Given the description of an element on the screen output the (x, y) to click on. 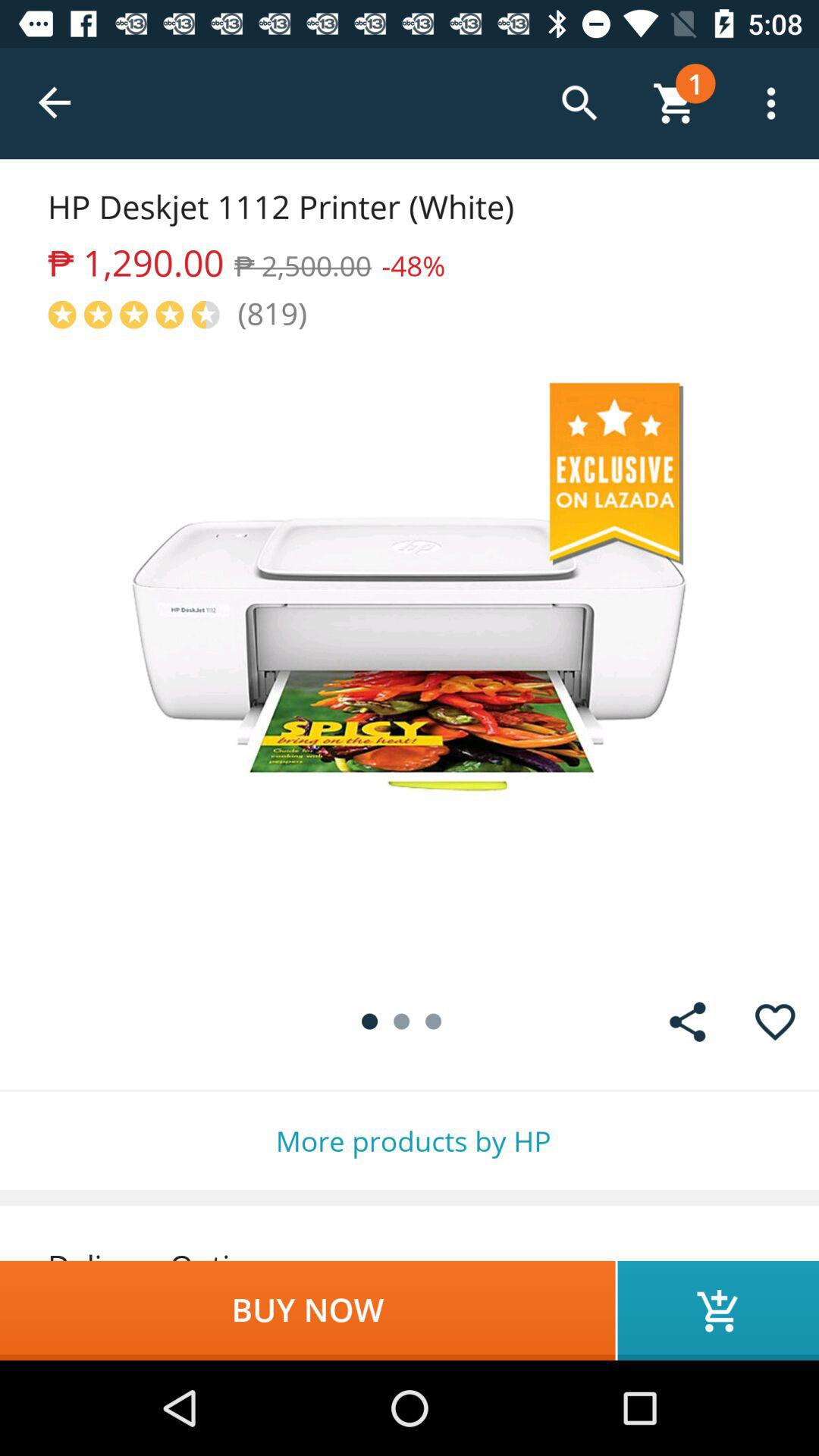
choose the item below the delivery options icon (307, 1310)
